Given the description of an element on the screen output the (x, y) to click on. 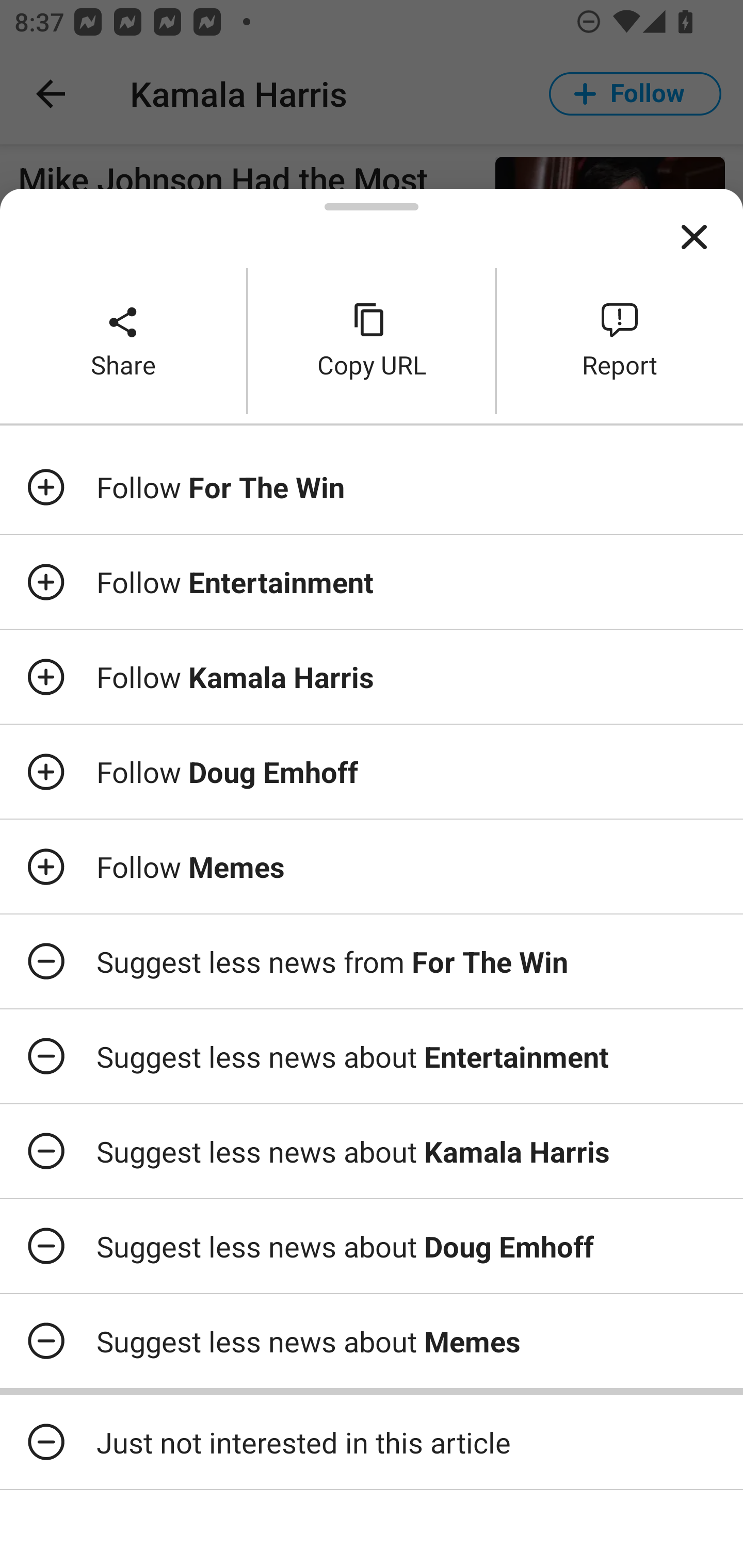
Close (694, 237)
Share (122, 340)
Copy URL (371, 340)
Report (620, 340)
Follow For The Win (371, 486)
Follow Entertainment (371, 581)
Follow Kamala Harris (371, 677)
Follow Doug Emhoff (371, 771)
Follow Memes (371, 867)
Suggest less news from For The Win (371, 961)
Suggest less news about Entertainment (371, 1056)
Suggest less news about Kamala Harris (371, 1150)
Suggest less news about Doug Emhoff (371, 1246)
Suggest less news about Memes (371, 1340)
Just not interested in this article (371, 1442)
